Given the description of an element on the screen output the (x, y) to click on. 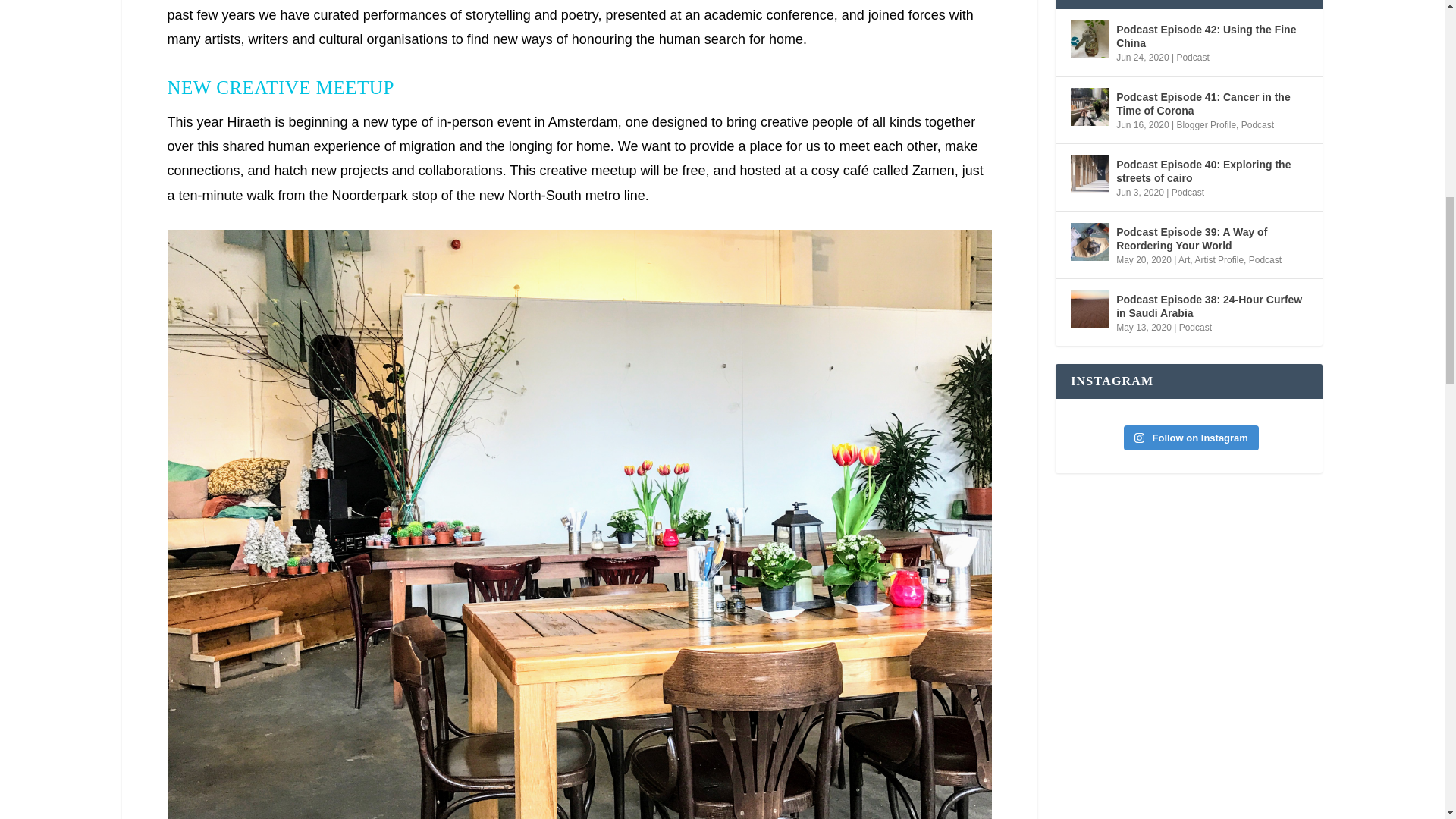
Podcast Episode 41:  Cancer in the Time of Corona (1089, 106)
Podcast Episode 40:  Exploring the streets of cairo (1089, 174)
Podcast Episode 42:  Using the Fine China (1089, 39)
